Given the description of an element on the screen output the (x, y) to click on. 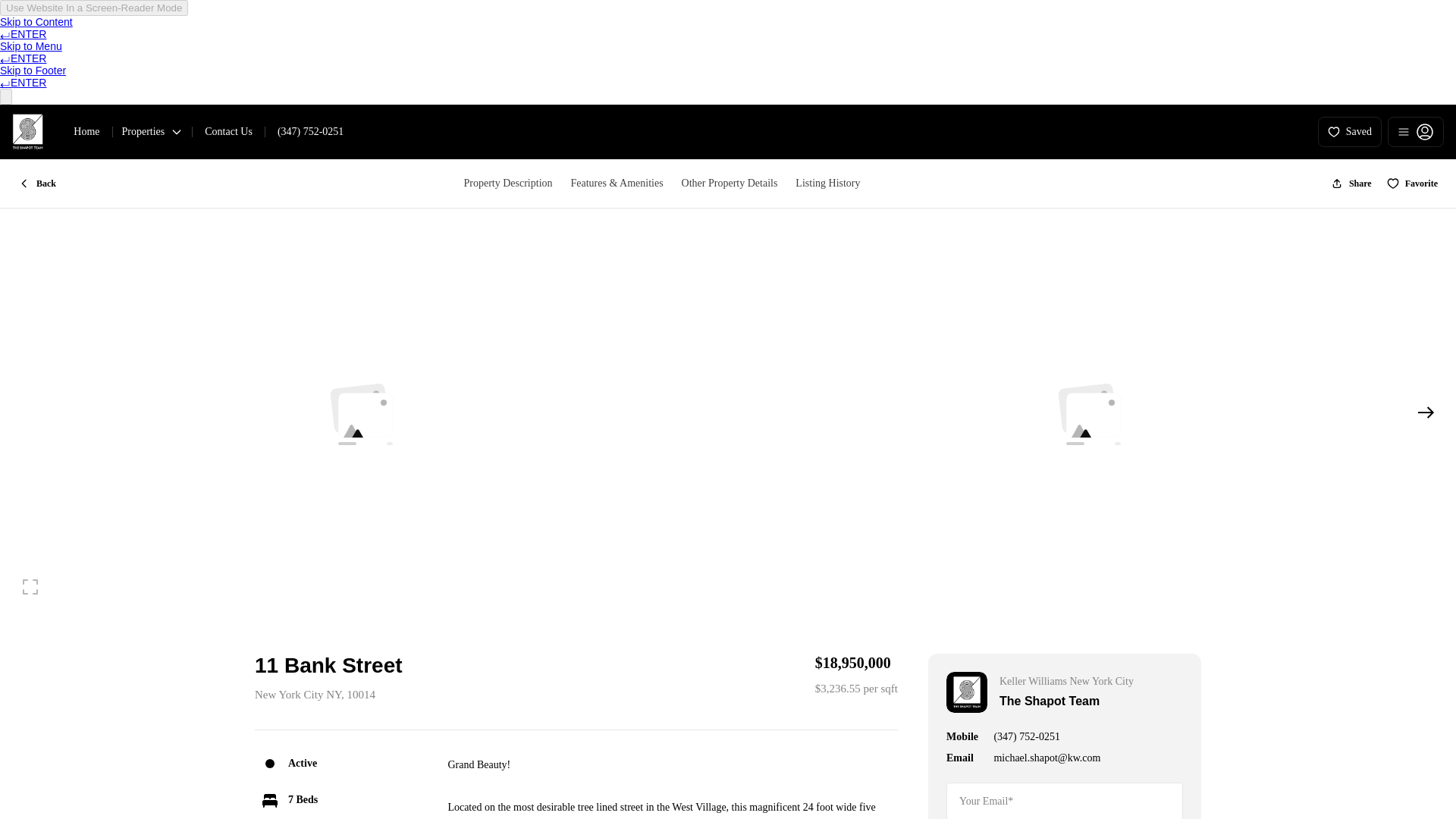
Other Property Details (729, 183)
Contact Us (228, 131)
Favorite (1412, 183)
Share (1350, 183)
Properties (152, 131)
Property Description (507, 183)
Saved (1349, 132)
Home (86, 131)
Listing History (827, 183)
Back (36, 183)
